Given the description of an element on the screen output the (x, y) to click on. 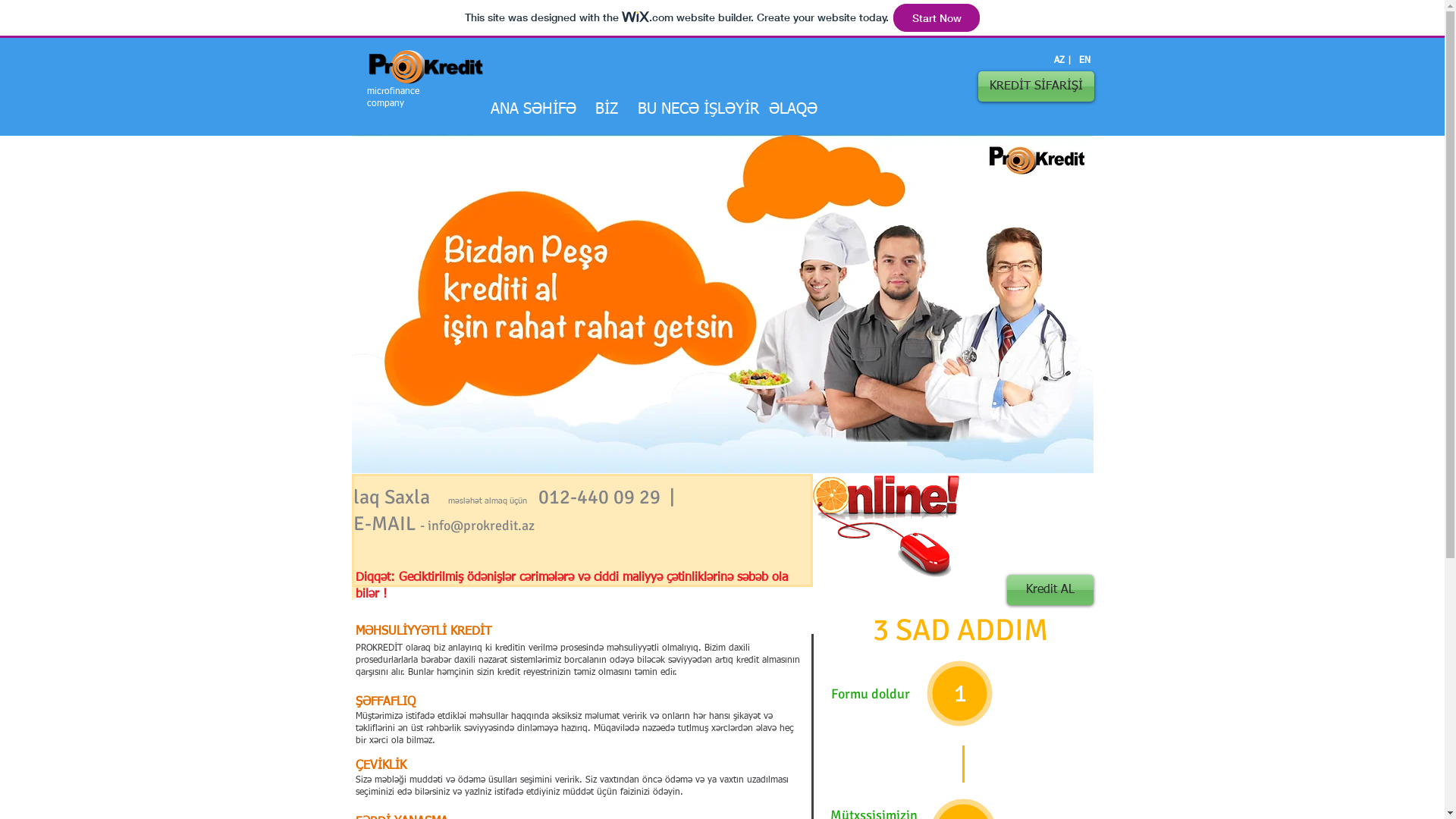
EN Element type: text (1084, 60)
info@prokredit.az Element type: text (480, 525)
AZ | Element type: text (1062, 60)
Kredit AL Element type: text (1050, 589)
